Given the description of an element on the screen output the (x, y) to click on. 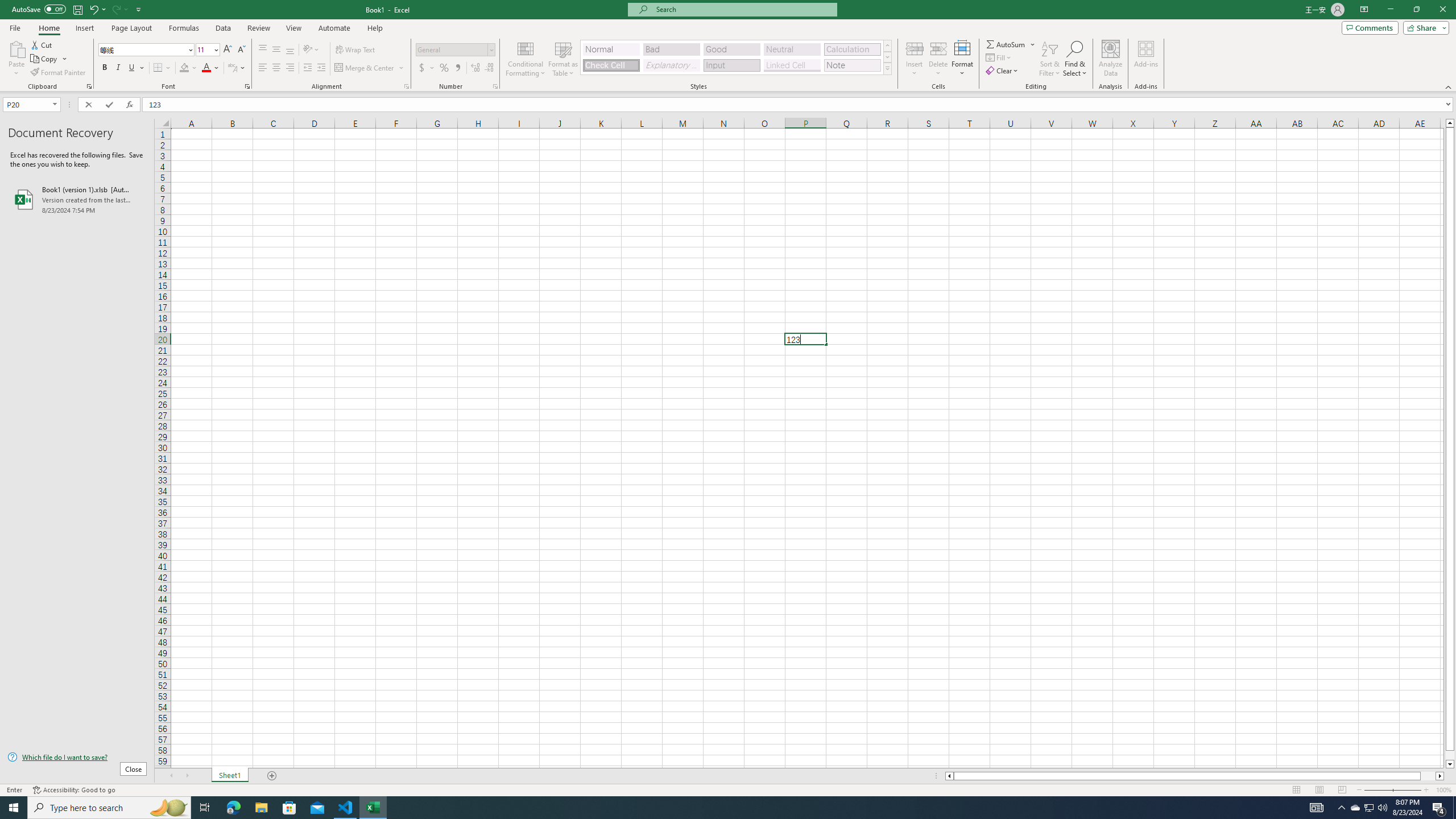
Align Right (290, 67)
